Given the description of an element on the screen output the (x, y) to click on. 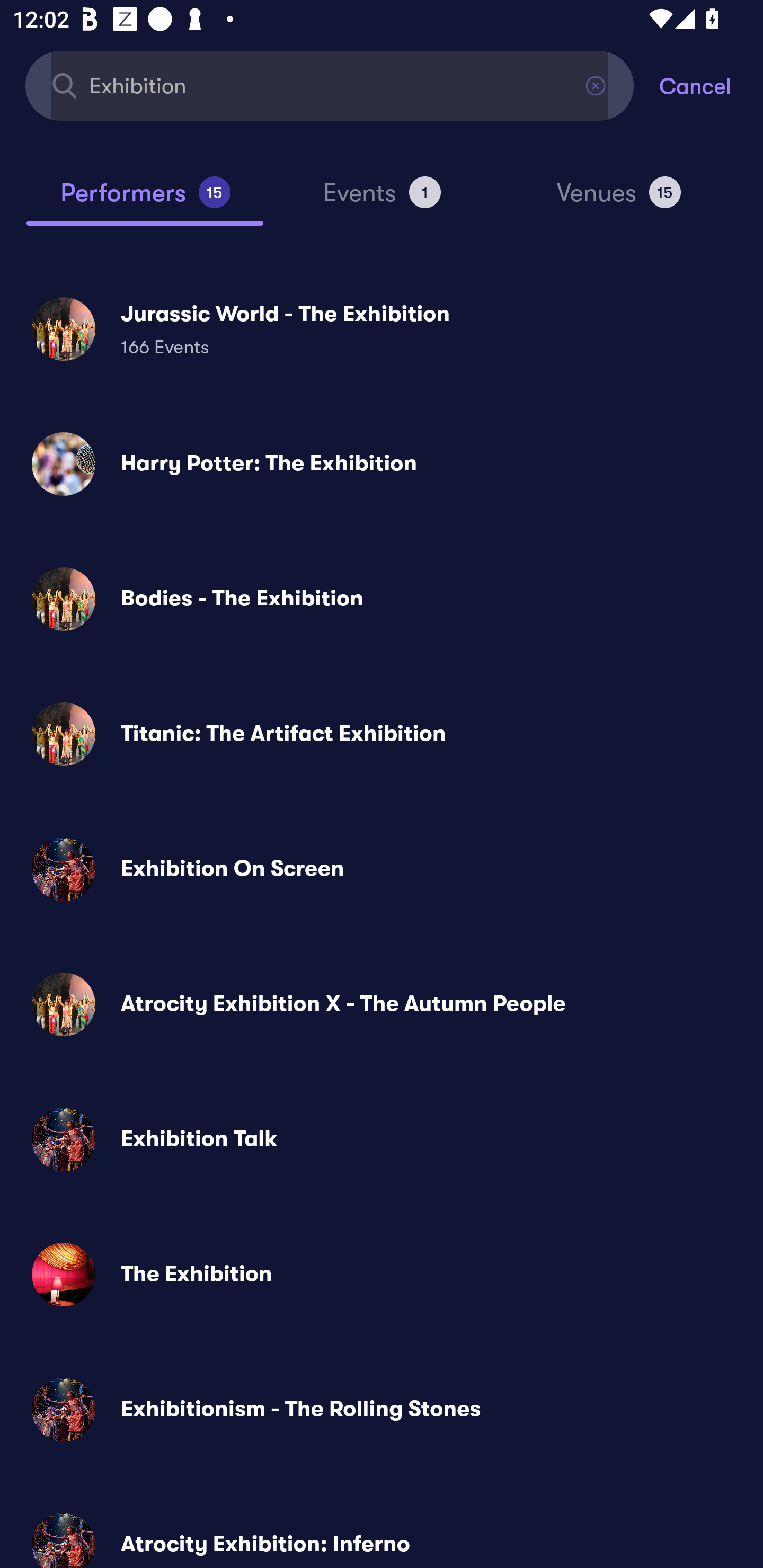
Exhibition Find (329, 85)
Exhibition Find (329, 85)
Cancel (711, 85)
Performers 15 (144, 200)
Events 1 (381, 200)
Venues 15 (618, 200)
Jurassic World - The Exhibition 166 Events (381, 328)
Harry Potter: The Exhibition (381, 464)
Bodies - The Exhibition (381, 598)
Titanic: The Artifact Exhibition (381, 734)
Exhibition On Screen (381, 869)
Atrocity Exhibition X - The Autumn People (381, 1004)
Exhibition Talk (381, 1138)
The Exhibition (381, 1273)
Exhibitionism - The Rolling Stones (381, 1409)
Atrocity Exhibition: Inferno (381, 1532)
